Given the description of an element on the screen output the (x, y) to click on. 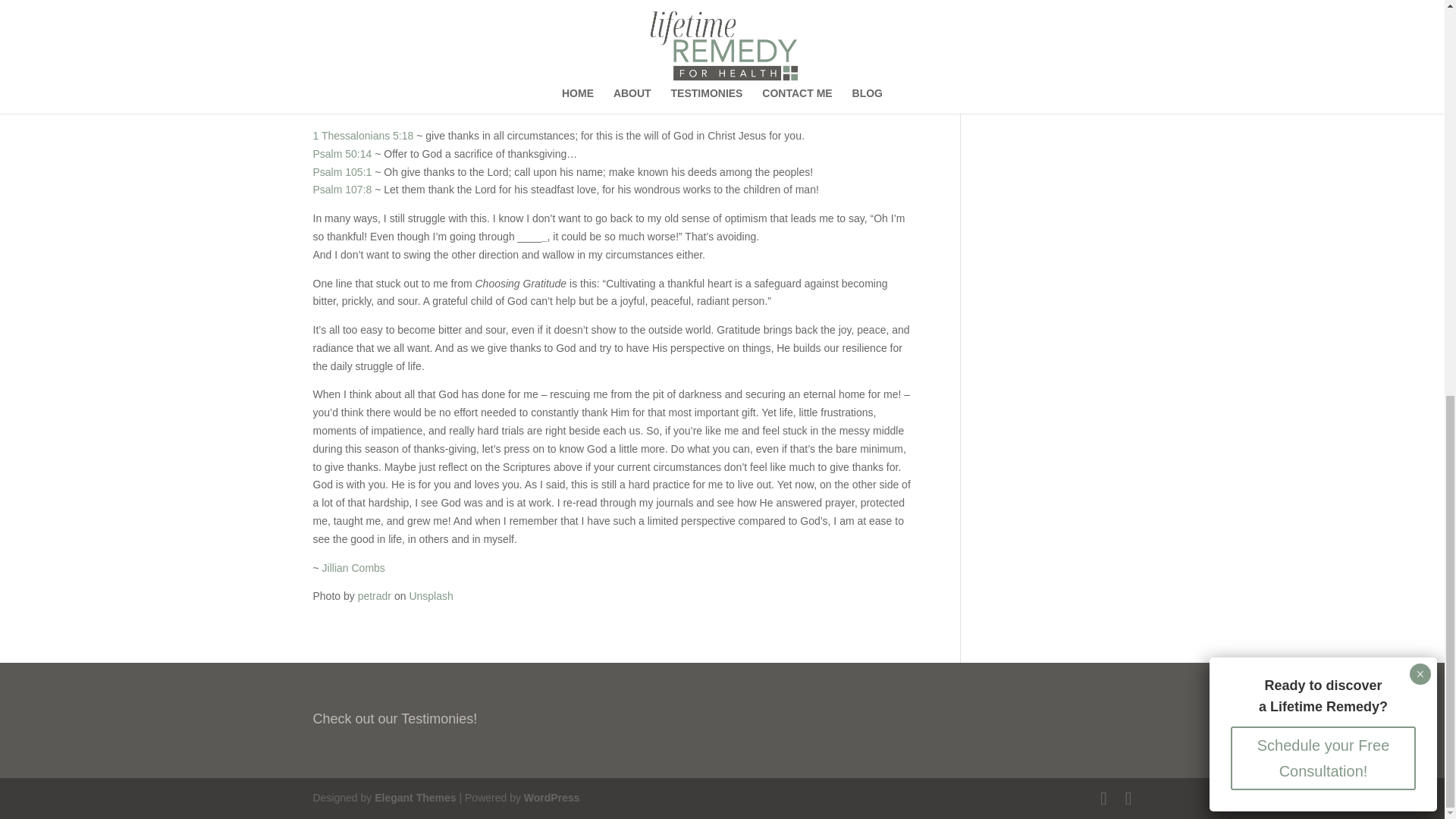
Psalm 50:14 (342, 153)
Premium WordPress Themes (414, 797)
Unsplash (430, 595)
1 Thessalonians 5:18 (363, 135)
Psalm 107:8 (342, 189)
Jillian Combs (353, 567)
Choosing Gratitude (674, 52)
Psalm 105:1 (342, 172)
petradr (374, 595)
